Given the description of an element on the screen output the (x, y) to click on. 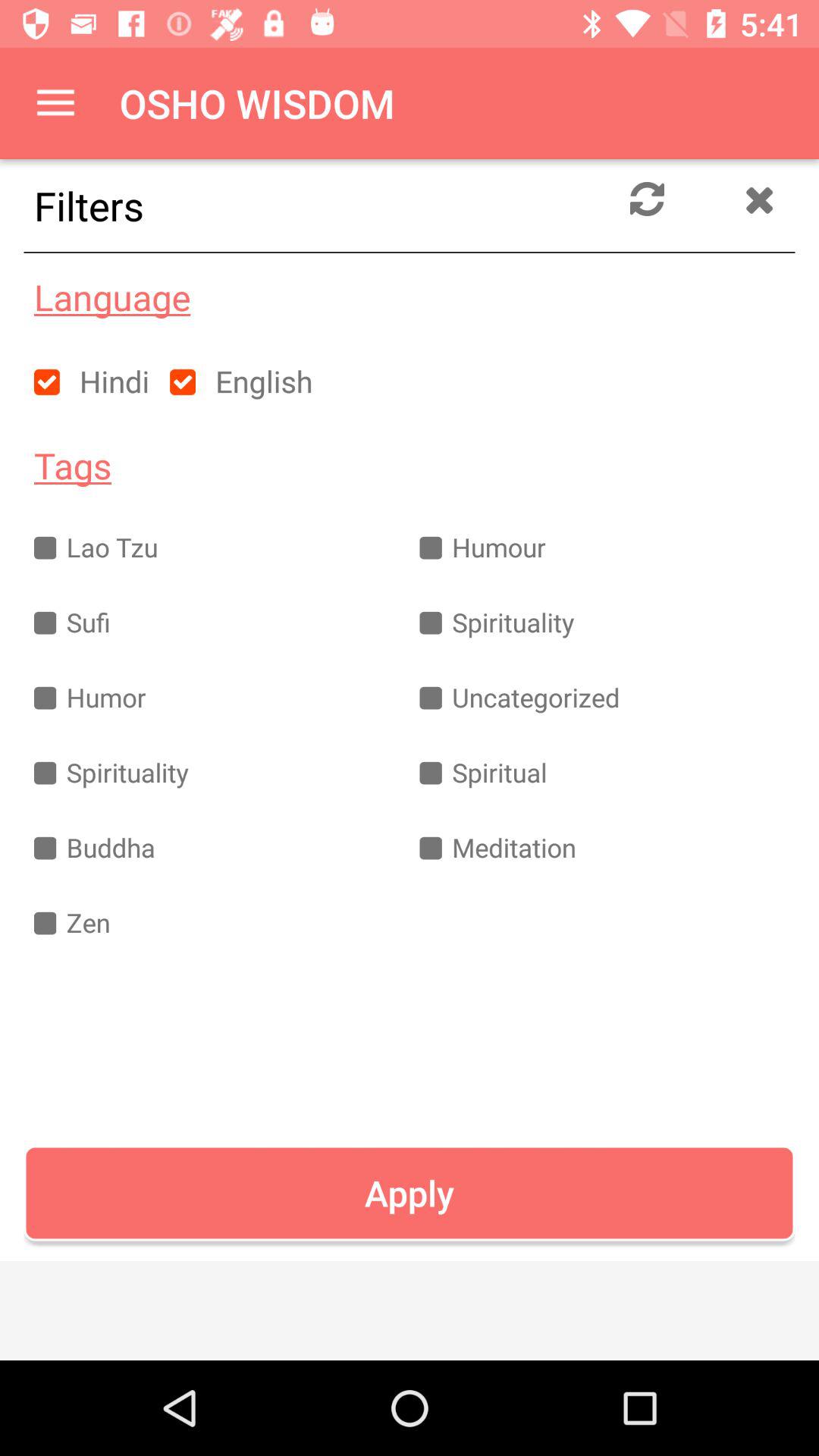
launch item below zen icon (409, 1193)
